Given the description of an element on the screen output the (x, y) to click on. 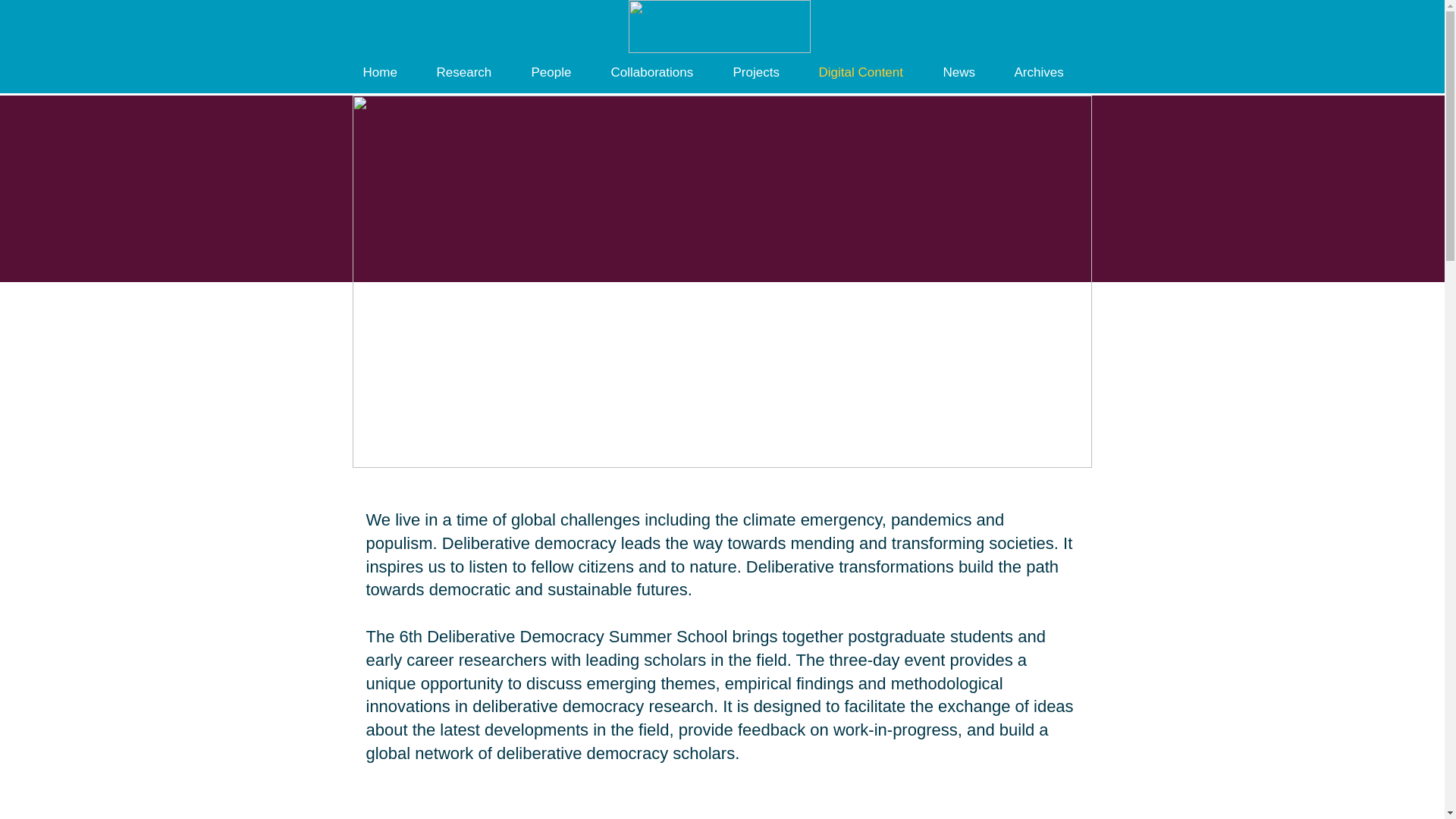
Research (472, 72)
Digital Content (868, 72)
Home (388, 72)
Collaborations (659, 72)
Projects (765, 72)
People (559, 72)
News (967, 72)
Archives (1046, 72)
